Given the description of an element on the screen output the (x, y) to click on. 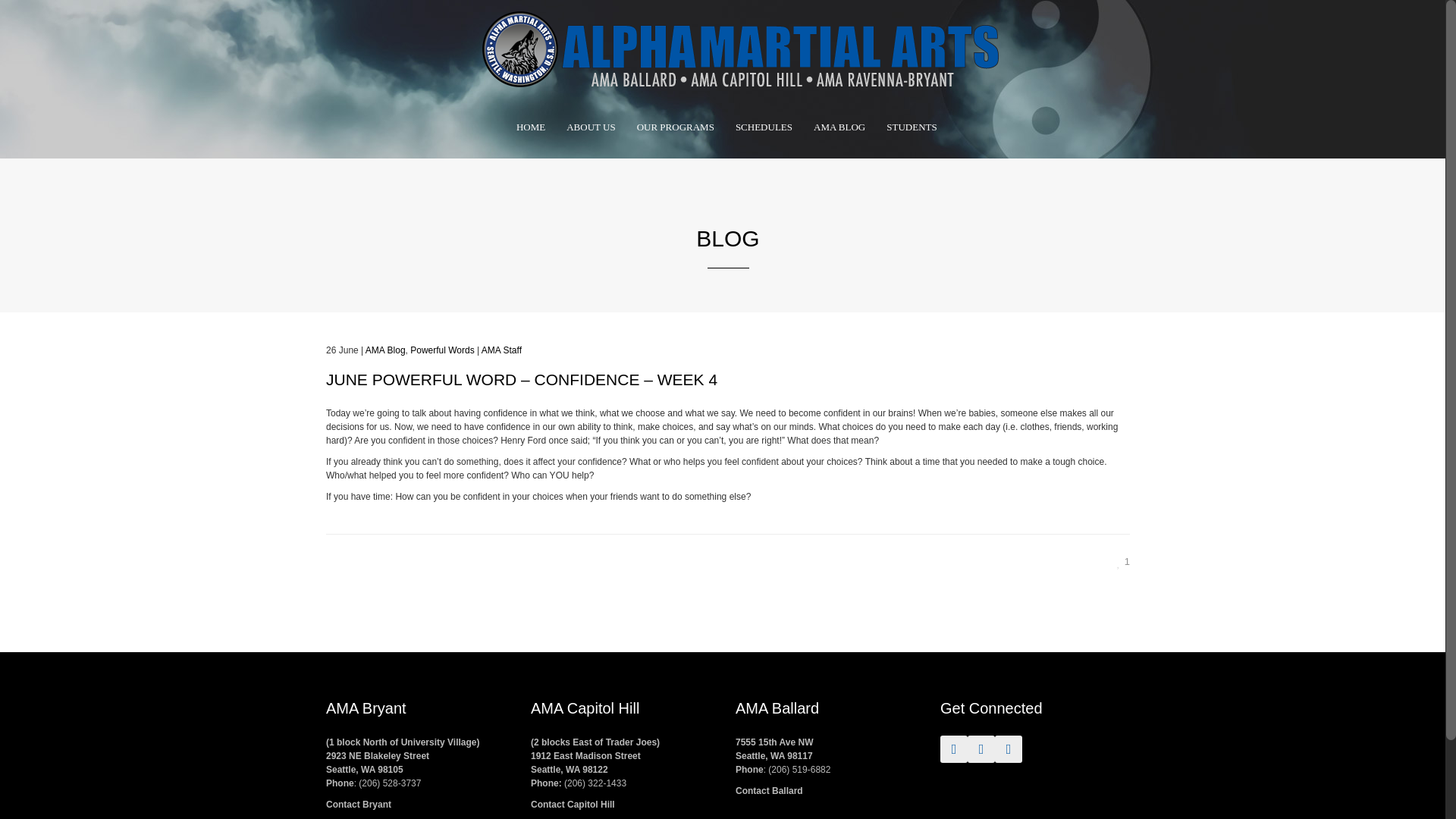
ABOUT US (591, 127)
SCHEDULES (764, 127)
OUR PROGRAMS (675, 127)
STUDENTS (911, 127)
Page 3 (727, 454)
AMA BLOG (839, 127)
